Given the description of an element on the screen output the (x, y) to click on. 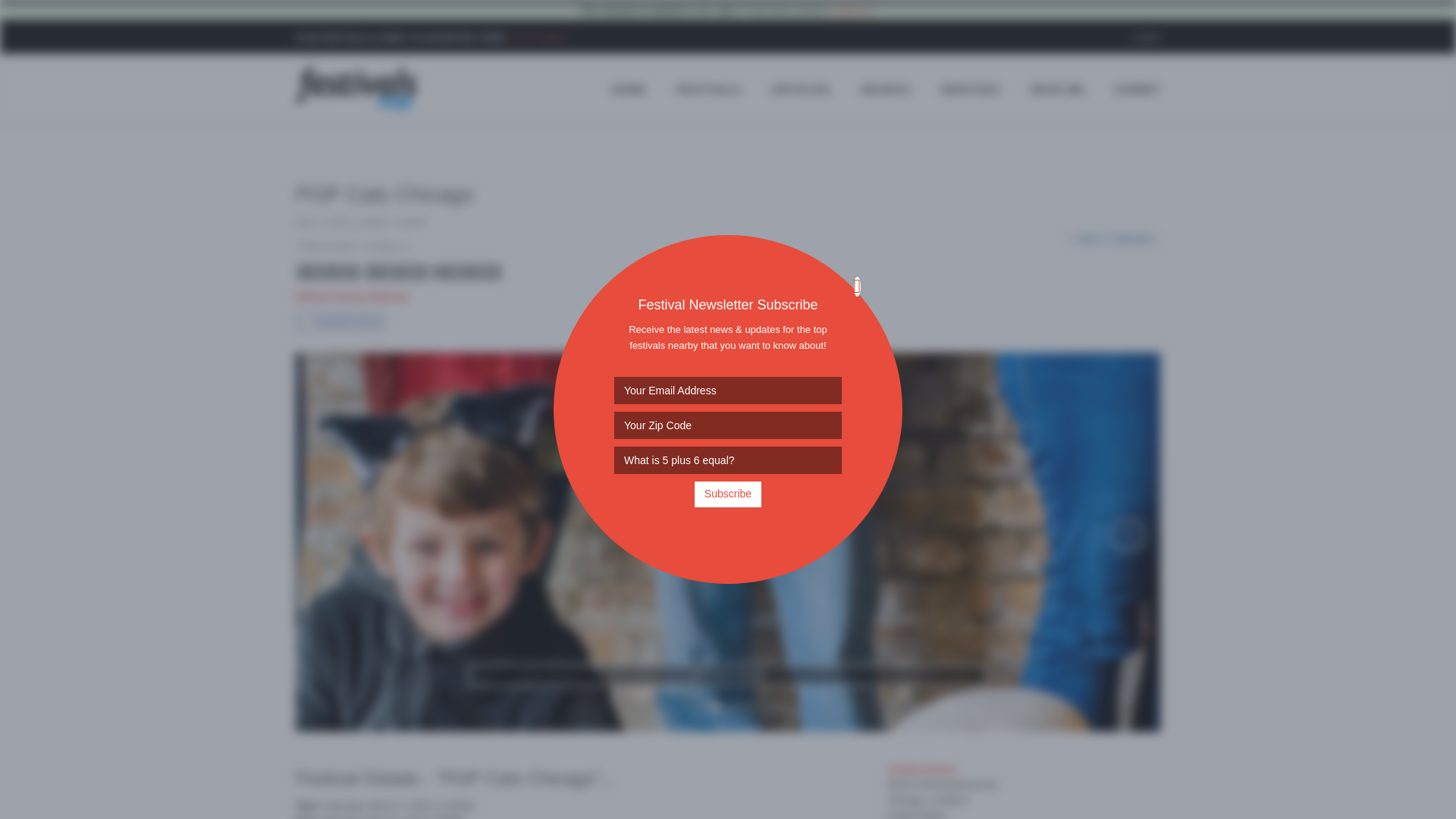
HOME (628, 89)
SEARCH (884, 89)
FESTIVALS (708, 89)
LOGIN (1146, 38)
contact us (850, 10)
Artifact Events (326, 245)
ARTICLES (800, 89)
